Given the description of an element on the screen output the (x, y) to click on. 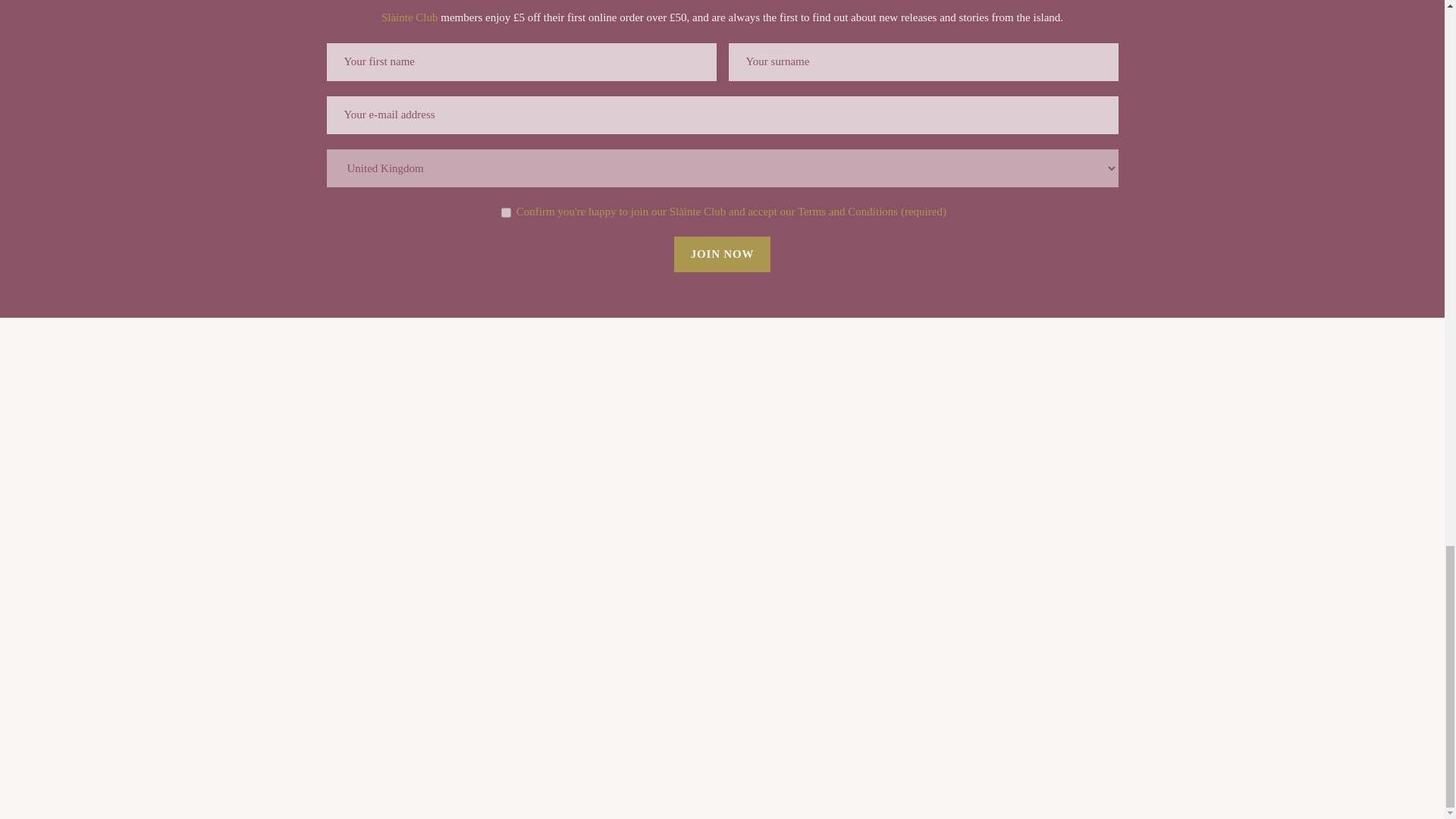
1 (505, 212)
Join Now (722, 253)
